Given the description of an element on the screen output the (x, y) to click on. 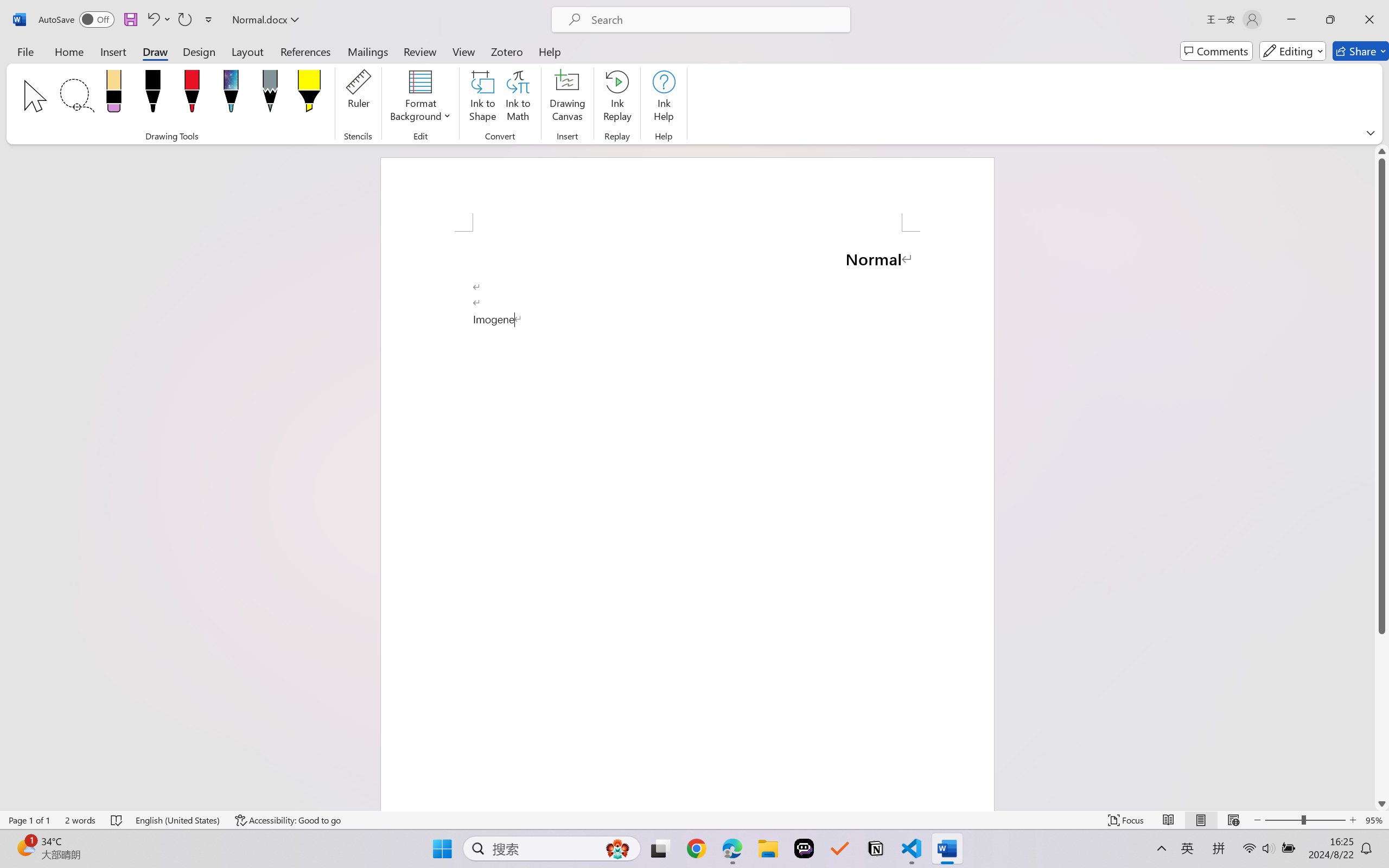
Page Number Page 1 of 1 (29, 819)
Undo Paragraph Formatting (158, 19)
Highlighter: Yellow, 6 mm (309, 94)
Drawing Canvas (567, 97)
